Given the description of an element on the screen output the (x, y) to click on. 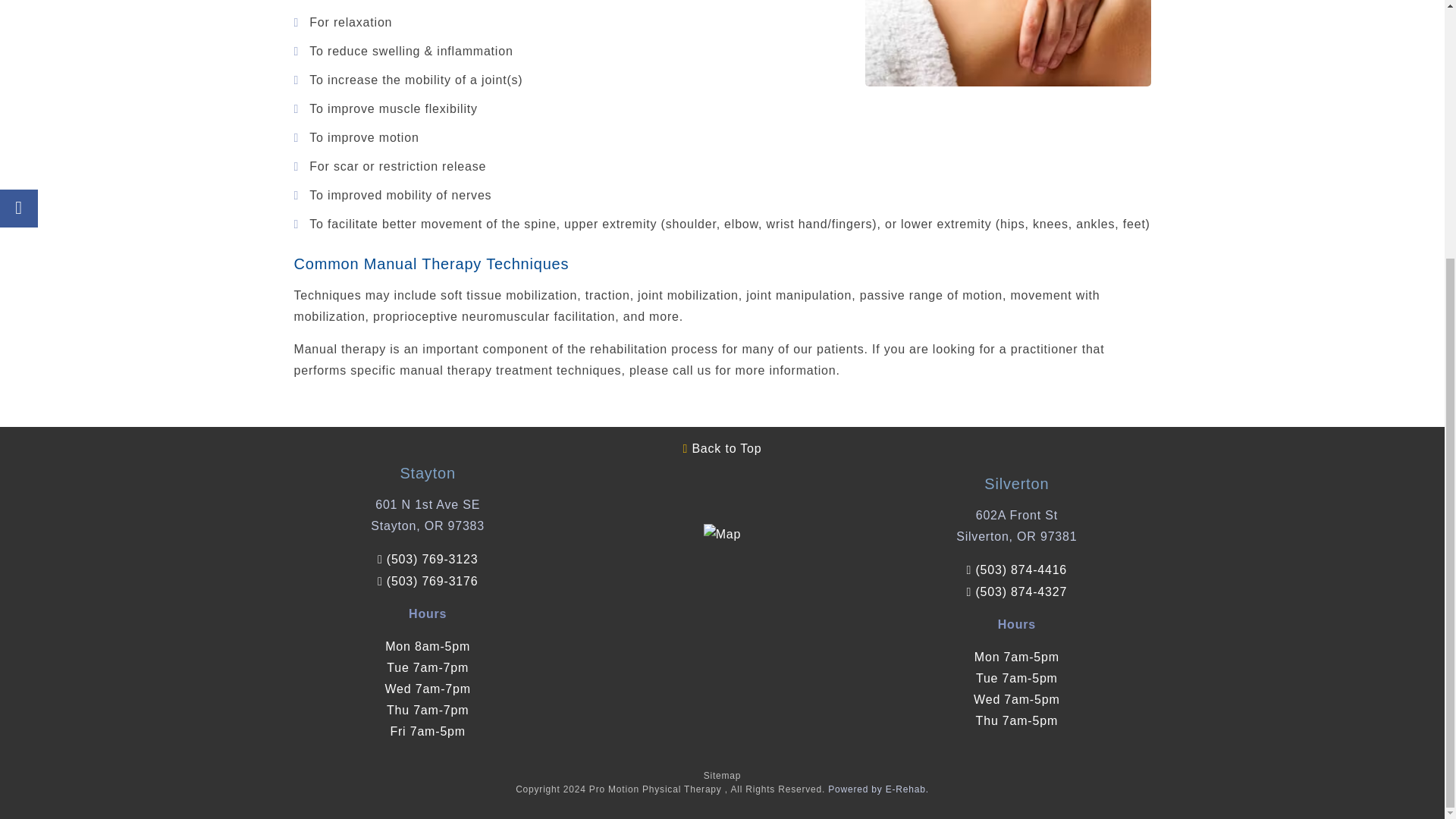
Back to Top (722, 448)
Sitemap (722, 775)
